Given the description of an element on the screen output the (x, y) to click on. 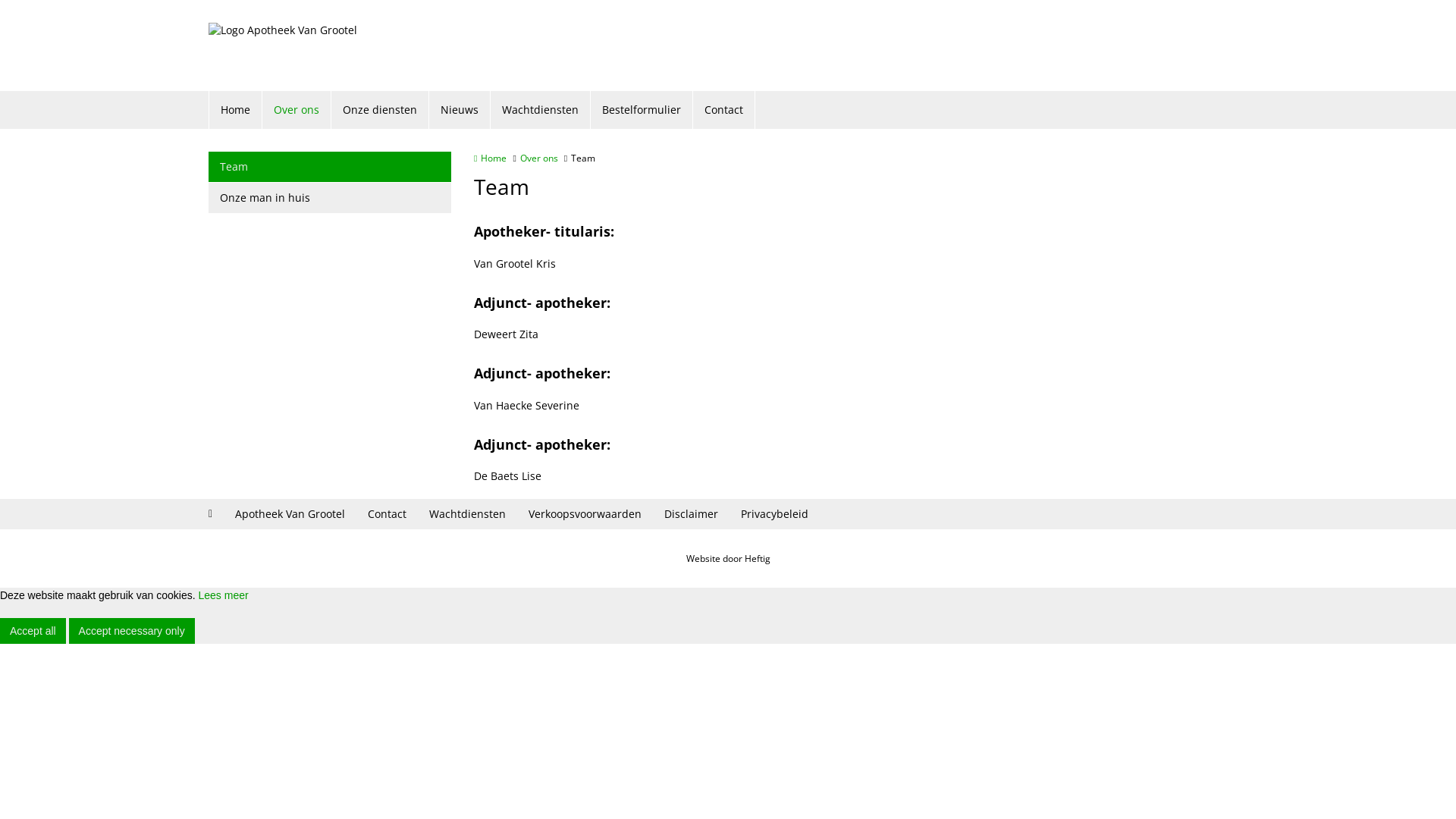
Home Element type: text (235, 109)
Contact Element type: text (386, 513)
Team Element type: text (329, 166)
Overslaan en naar de inhoud gaan Element type: text (81, 0)
Home | Apotheek Van Grootel Element type: hover (282, 45)
Disclaimer Element type: text (691, 513)
Apotheek Van Grootel Element type: text (290, 513)
Verkoopsvoorwaarden Element type: text (584, 513)
Wachtdiensten Element type: text (467, 513)
Privacybeleid Element type: text (774, 513)
Bestelformulier Element type: text (641, 109)
Home Element type: text (489, 157)
Home | Apotheek Van Grootel Element type: hover (305, 45)
Accept all Element type: text (32, 630)
Lees meer Element type: text (222, 595)
Website door Heftig Element type: text (727, 558)
Wachtdiensten Element type: text (540, 109)
Over ons Element type: text (539, 157)
Nieuws Element type: text (459, 109)
Contact Element type: text (724, 109)
Over ons Element type: text (296, 109)
Onze diensten Element type: text (380, 109)
Accept necessary only Element type: text (131, 630)
Onze man in huis Element type: text (329, 197)
